Given the description of an element on the screen output the (x, y) to click on. 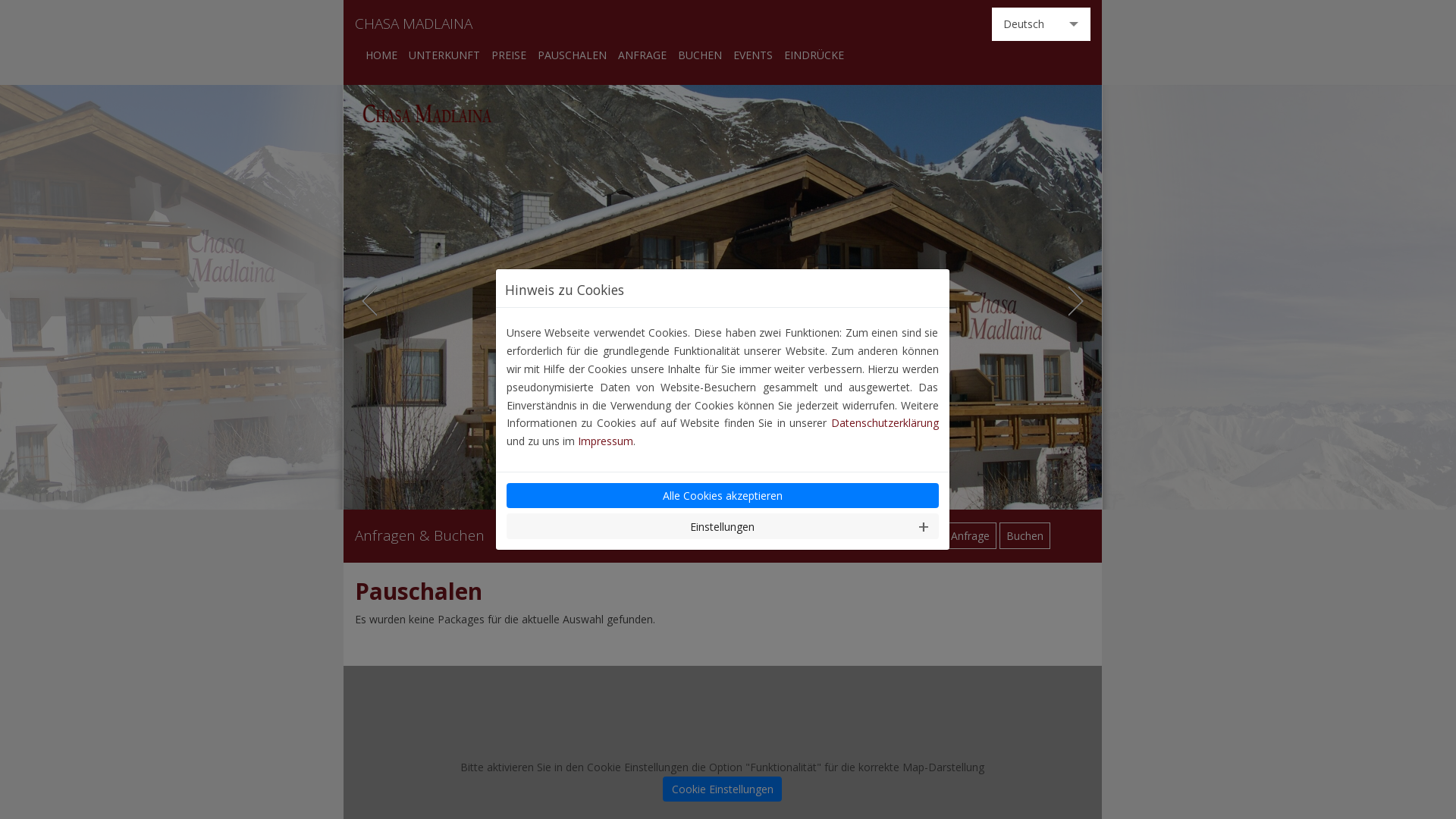
EVENTS Element type: text (751, 54)
Buchen Element type: text (1024, 535)
BUCHEN Element type: text (699, 54)
Cookie Einstellungen Element type: text (721, 789)
PREISE Element type: text (508, 54)
PAUSCHALEN Element type: text (570, 54)
UNTERKUNFT Element type: text (443, 54)
Alle Cookies akzeptieren Element type: text (722, 495)
Next Element type: text (1076, 300)
Anfrage Element type: text (970, 535)
Prev Element type: text (366, 300)
Impressum Element type: text (605, 440)
HOME Element type: text (381, 54)
Einstellungen Element type: text (722, 526)
ANFRAGE Element type: text (641, 54)
